Given the description of an element on the screen output the (x, y) to click on. 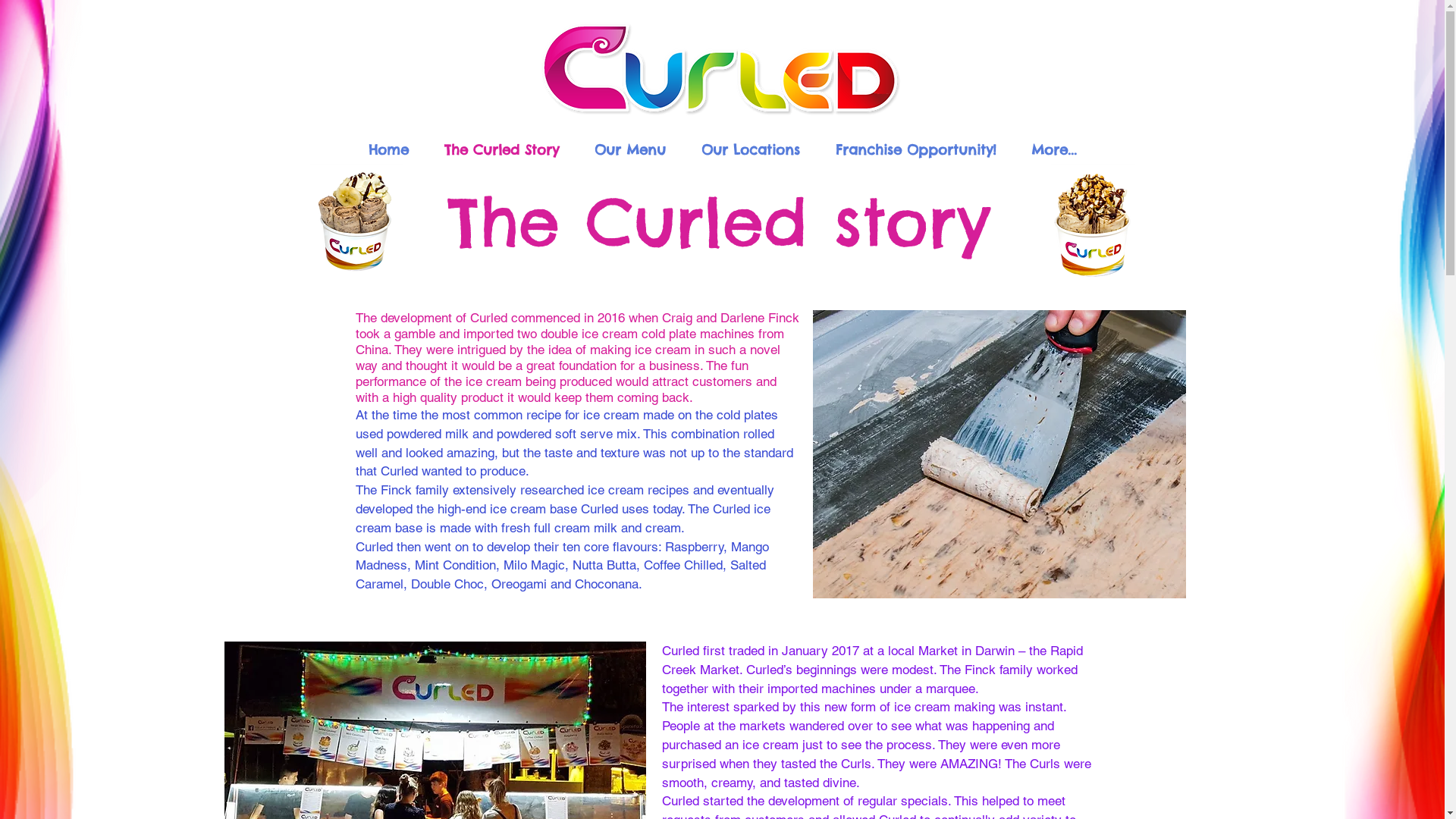
Our Menu Element type: text (629, 147)
Our Locations Element type: text (751, 147)
Home Element type: text (388, 147)
Franchise Opportunity! Element type: text (915, 147)
The Curled Story Element type: text (501, 147)
